Given the description of an element on the screen output the (x, y) to click on. 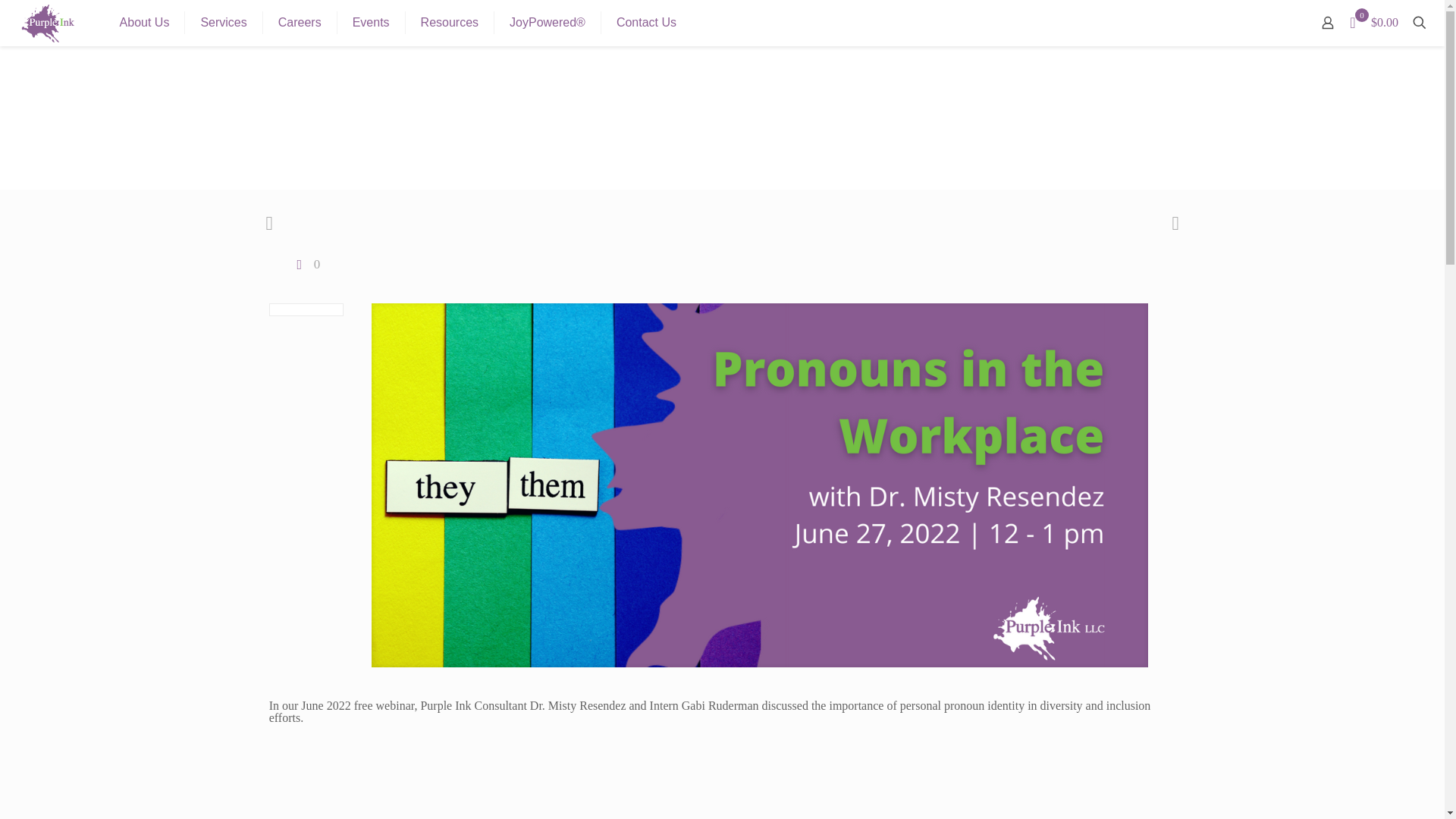
0 (306, 264)
Contact Us (646, 22)
Pronouns in the Workplace Webinar (722, 777)
Events (371, 22)
About Us (145, 22)
Careers (300, 22)
Resources (450, 22)
Services (223, 22)
